Given the description of an element on the screen output the (x, y) to click on. 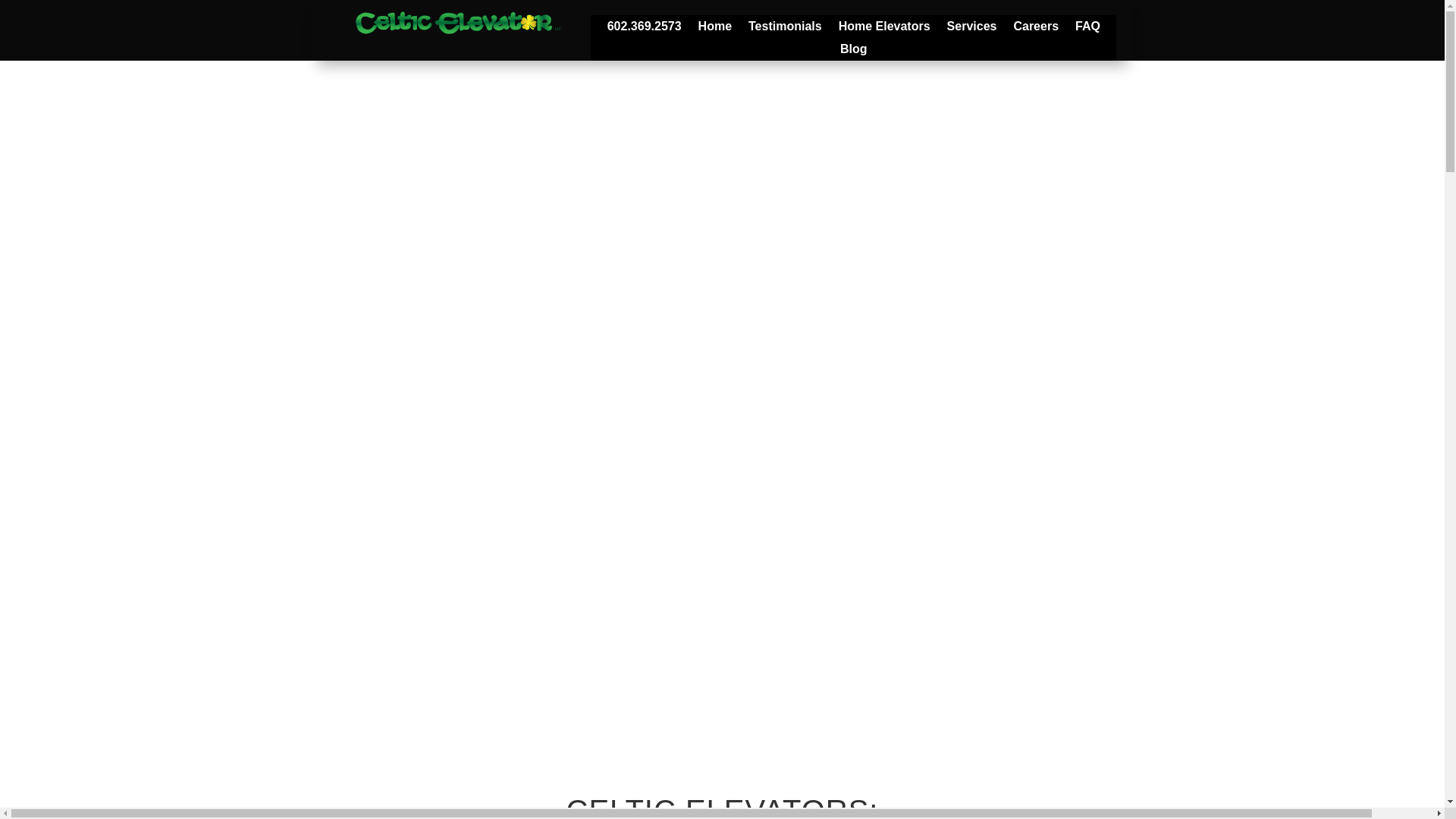
602.369.2573 (644, 29)
Services (972, 29)
FAQ (1087, 29)
Careers (1035, 29)
Testimonials (785, 29)
Blog (853, 52)
Home Elevators (884, 29)
Home (715, 29)
